Given the description of an element on the screen output the (x, y) to click on. 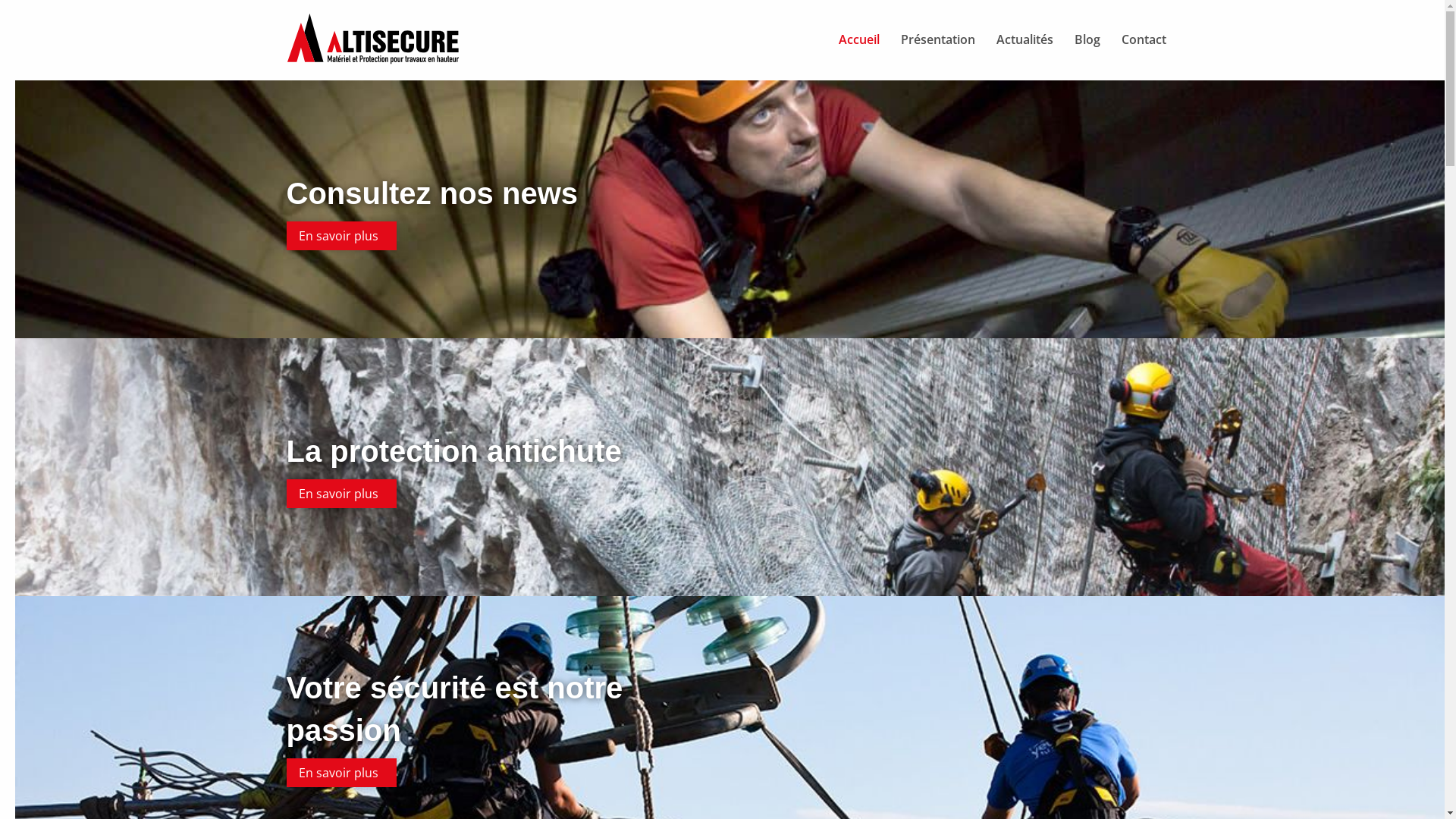
En savoir plus Element type: text (341, 235)
Blog Element type: text (1086, 40)
En savoir plus Element type: text (341, 493)
Contact Element type: text (1142, 40)
En savoir plus Element type: text (341, 772)
Accueil Element type: text (858, 40)
